Given the description of an element on the screen output the (x, y) to click on. 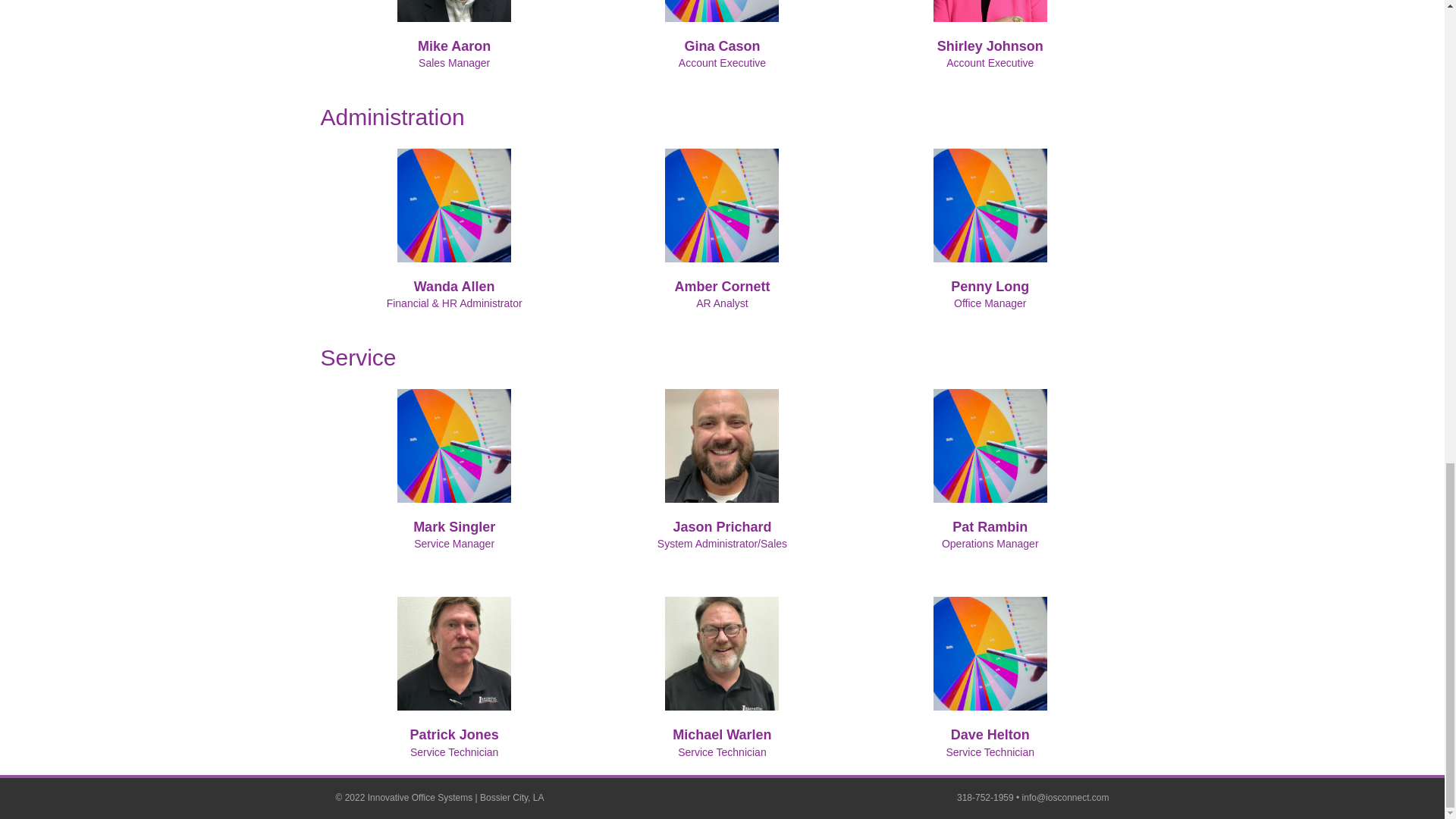
qtq80-WsYCrG (721, 205)
qtq80-WsYCrG (989, 205)
qtq80-WsYCrG (721, 11)
Shirley Johnson (990, 46)
qtq80-WsYCrG (454, 205)
Mike Aaron (453, 46)
Wanda Allen (454, 286)
Gina Cason (722, 46)
Penny Long (989, 286)
Shirley Johnson (989, 11)
Amber Cornett (722, 286)
Mike Aaron Innovative Office Systems Bossier City (454, 11)
